Given the description of an element on the screen output the (x, y) to click on. 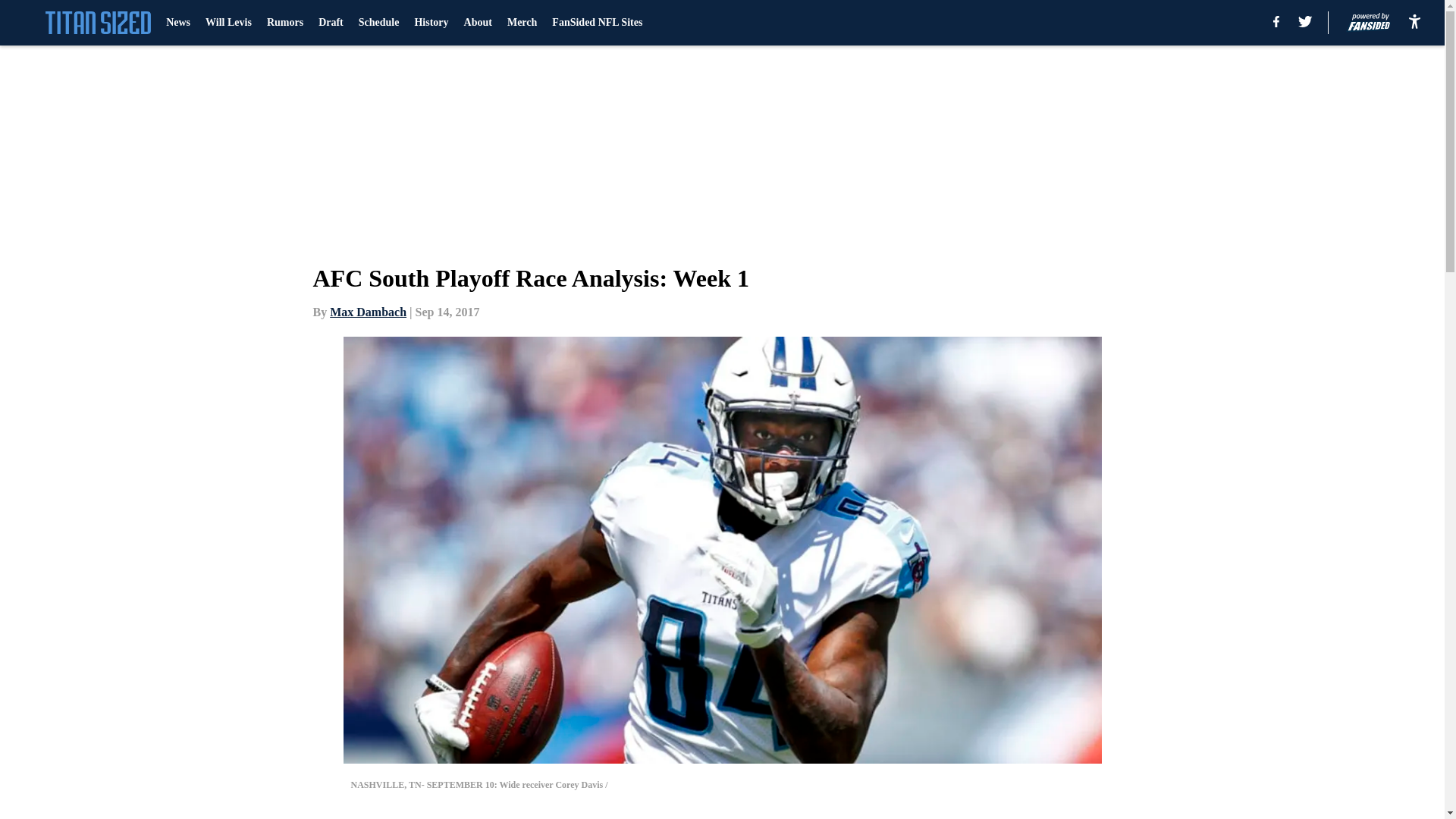
Schedule (378, 22)
FanSided NFL Sites (596, 22)
Will Levis (228, 22)
Draft (330, 22)
Max Dambach (368, 311)
Merch (521, 22)
News (177, 22)
History (430, 22)
About (478, 22)
